Given the description of an element on the screen output the (x, y) to click on. 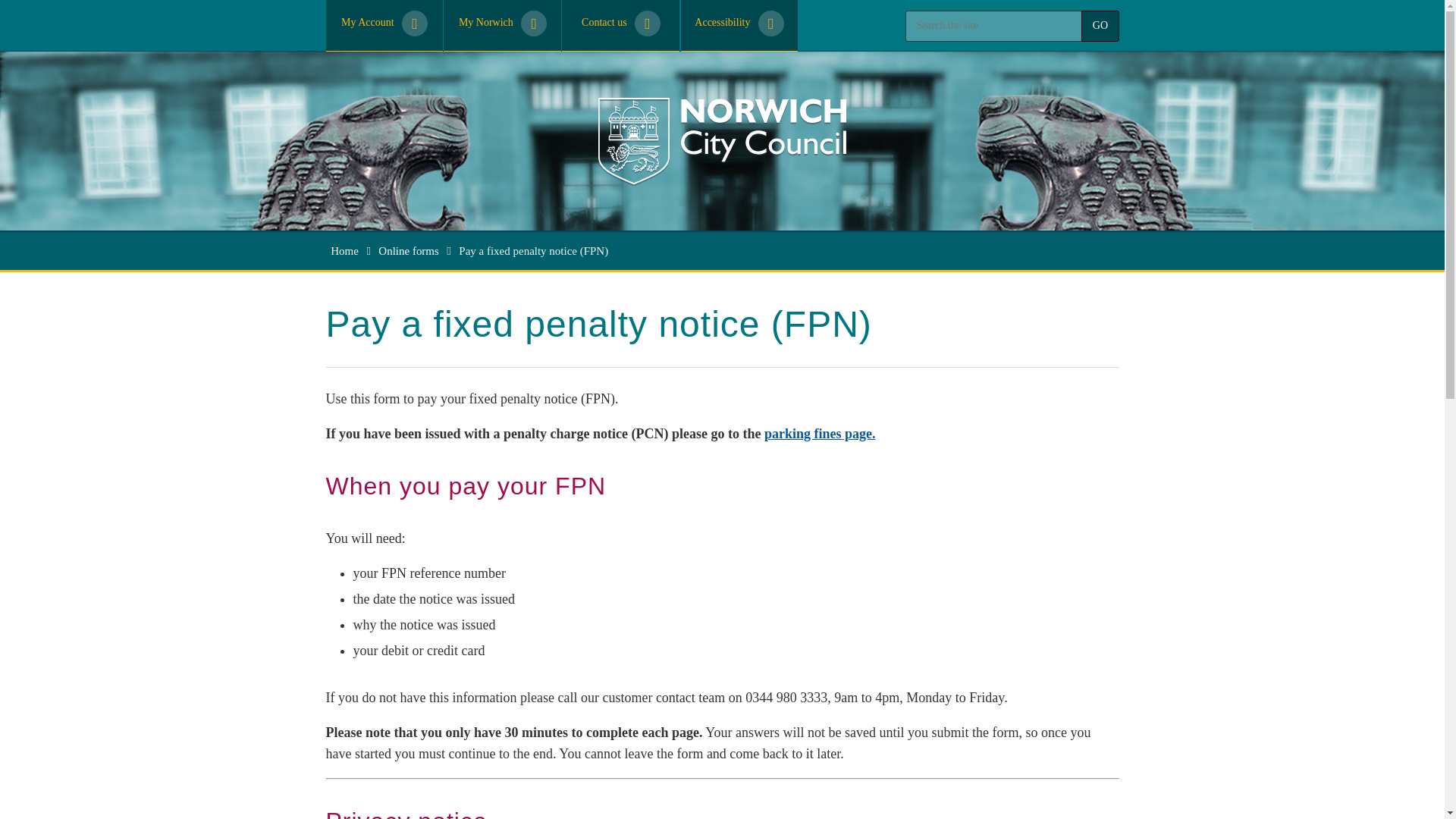
Online forms (408, 250)
Norwich City Council (721, 141)
parking fines page. (820, 433)
My Norwich (502, 24)
My Account (385, 25)
Home (344, 250)
Accessibility (739, 25)
GO (1099, 25)
Contact us (620, 25)
